Given the description of an element on the screen output the (x, y) to click on. 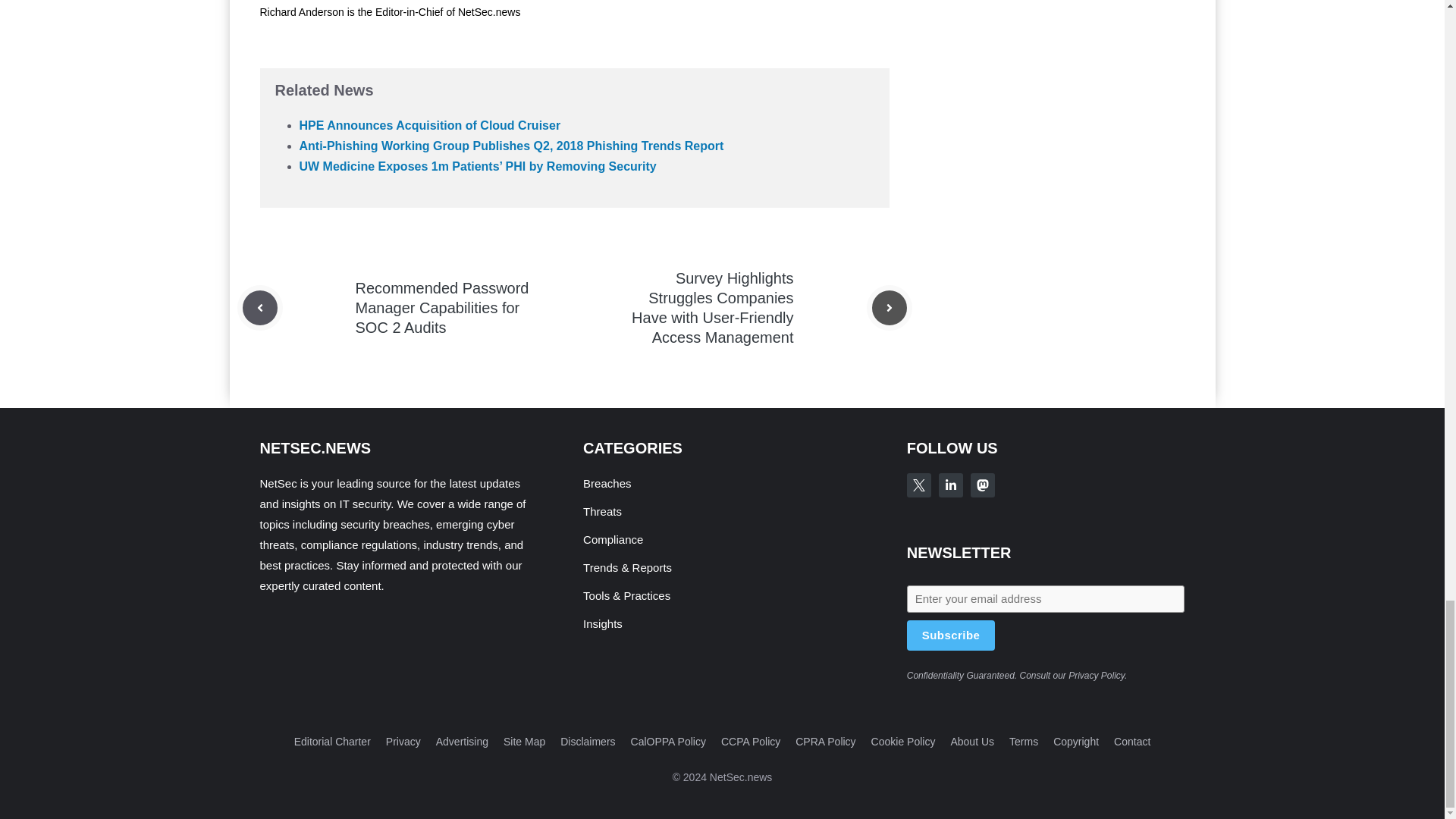
Subscribe (951, 634)
HPE Announces Acquisition of Cloud Cruiser (429, 124)
Recommended Password Manager Capabilities for SOC 2 Audits (441, 307)
HPE Announces Acquisition of Cloud Cruiser (429, 124)
